Given the description of an element on the screen output the (x, y) to click on. 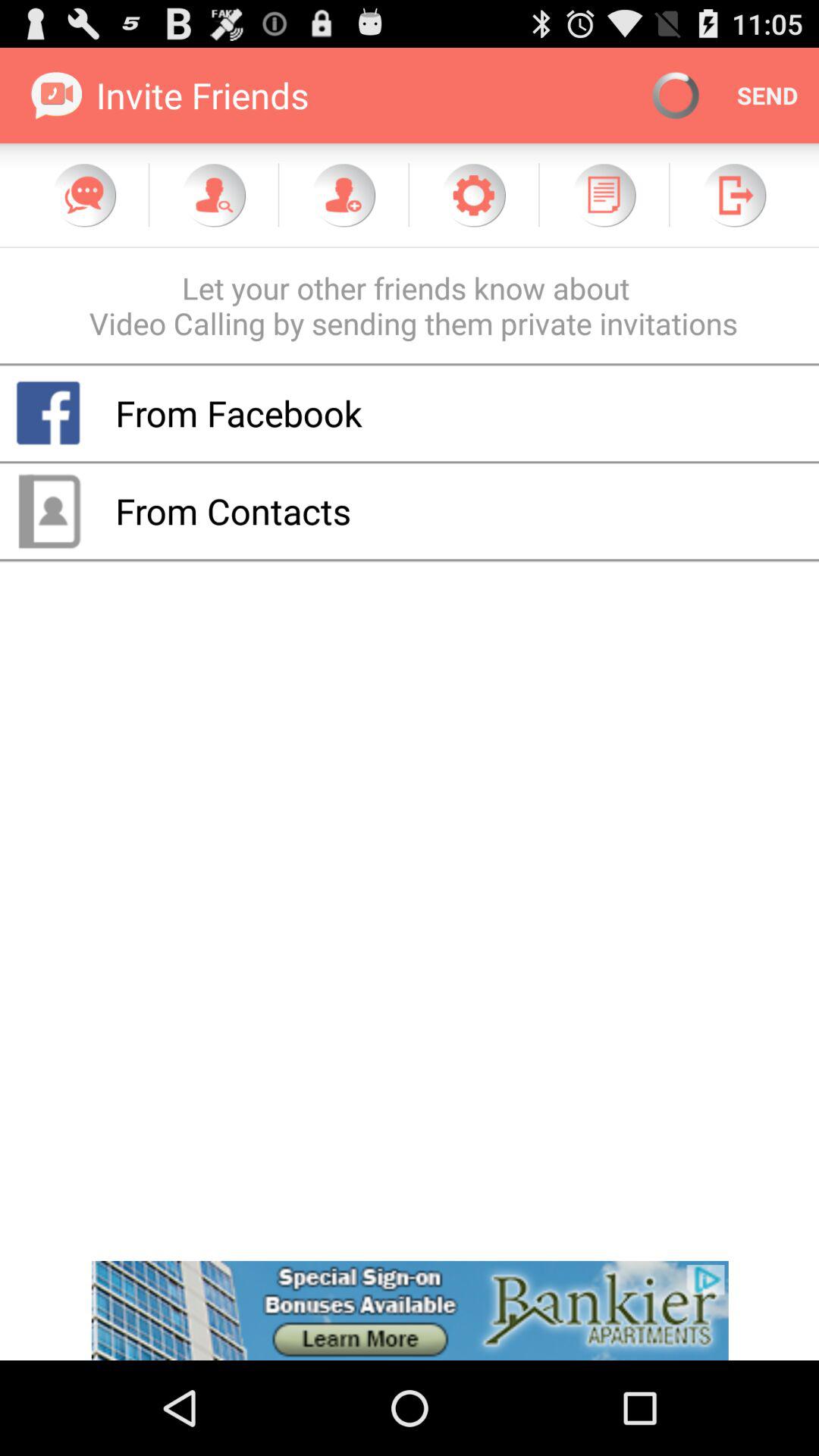
notepad option (603, 194)
